Given the description of an element on the screen output the (x, y) to click on. 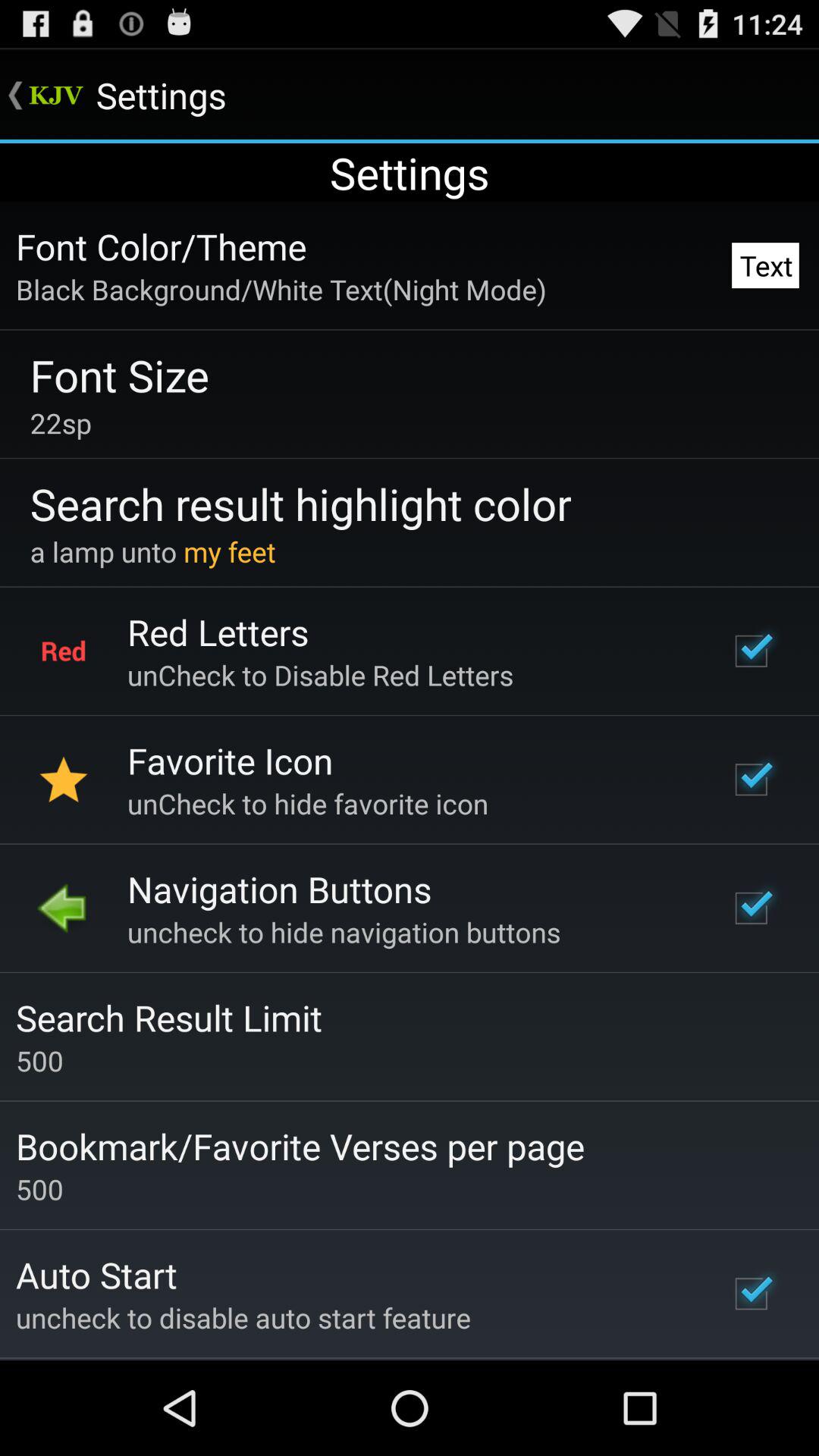
scroll until font size icon (119, 374)
